Given the description of an element on the screen output the (x, y) to click on. 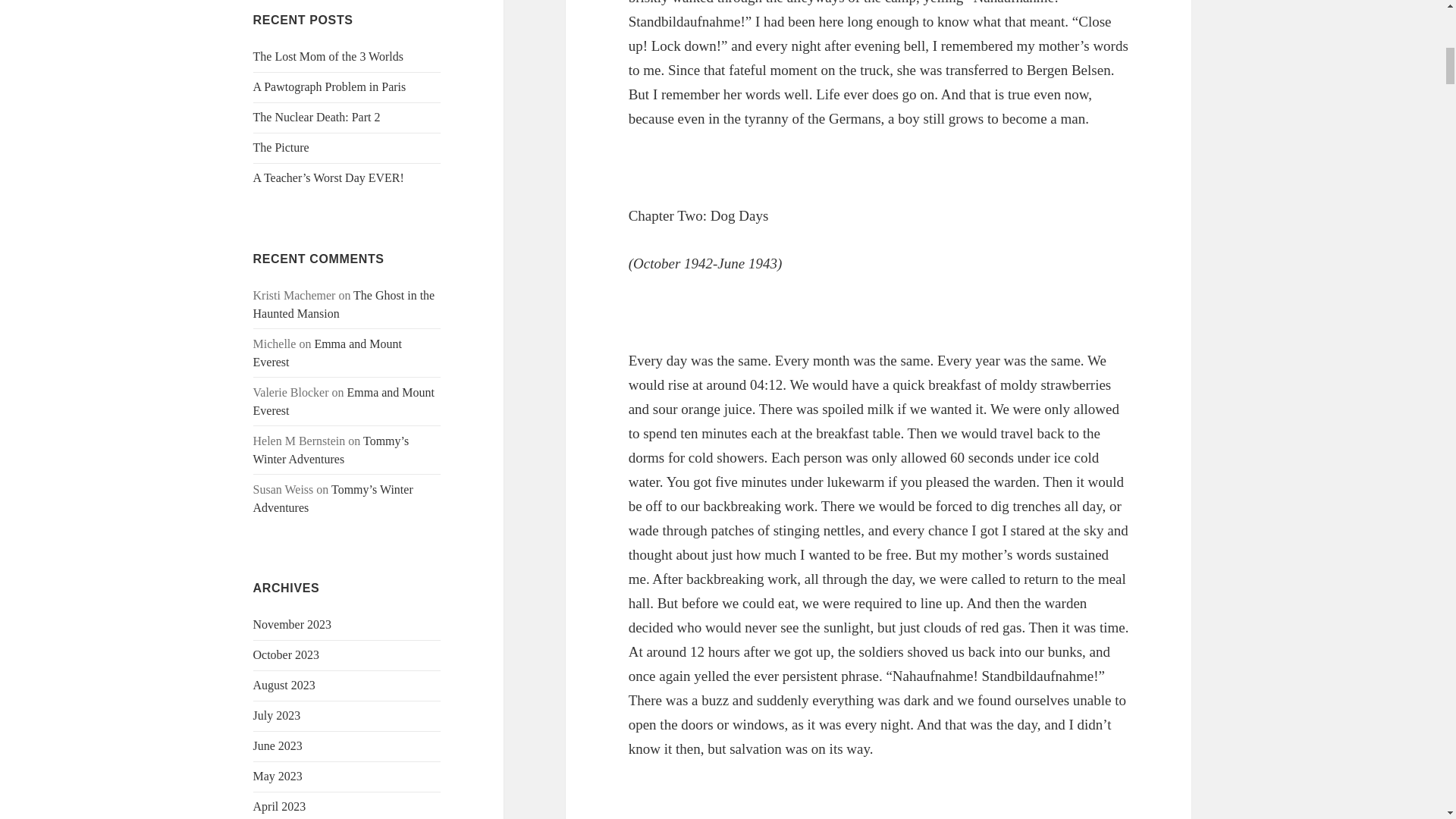
The Nuclear Death: Part 2 (316, 116)
April 2023 (279, 806)
November 2023 (292, 624)
May 2023 (277, 775)
The Lost Mom of the 3 Worlds (328, 56)
October 2023 (286, 654)
August 2023 (284, 684)
The Ghost in the Haunted Mansion (344, 304)
Emma and Mount Everest (327, 352)
A Pawtograph Problem in Paris (329, 86)
July 2023 (277, 715)
Emma and Mount Everest (344, 400)
June 2023 (277, 745)
The Picture (280, 146)
